Given the description of an element on the screen output the (x, y) to click on. 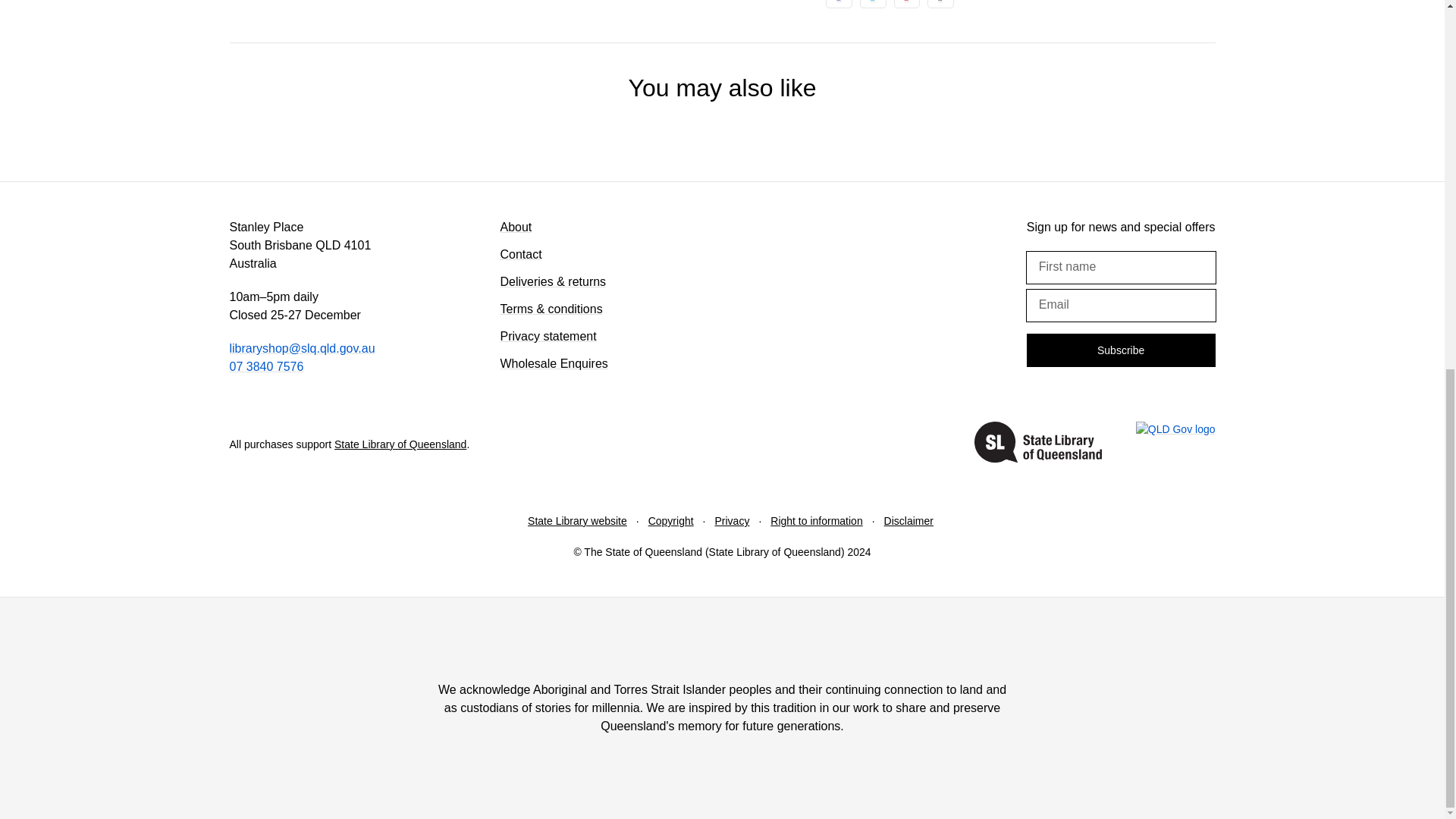
Go to Queensland State Library homepage (1038, 444)
Go to Queensland Government homepage (1175, 444)
tel:07 3840 7576 (265, 366)
